Given the description of an element on the screen output the (x, y) to click on. 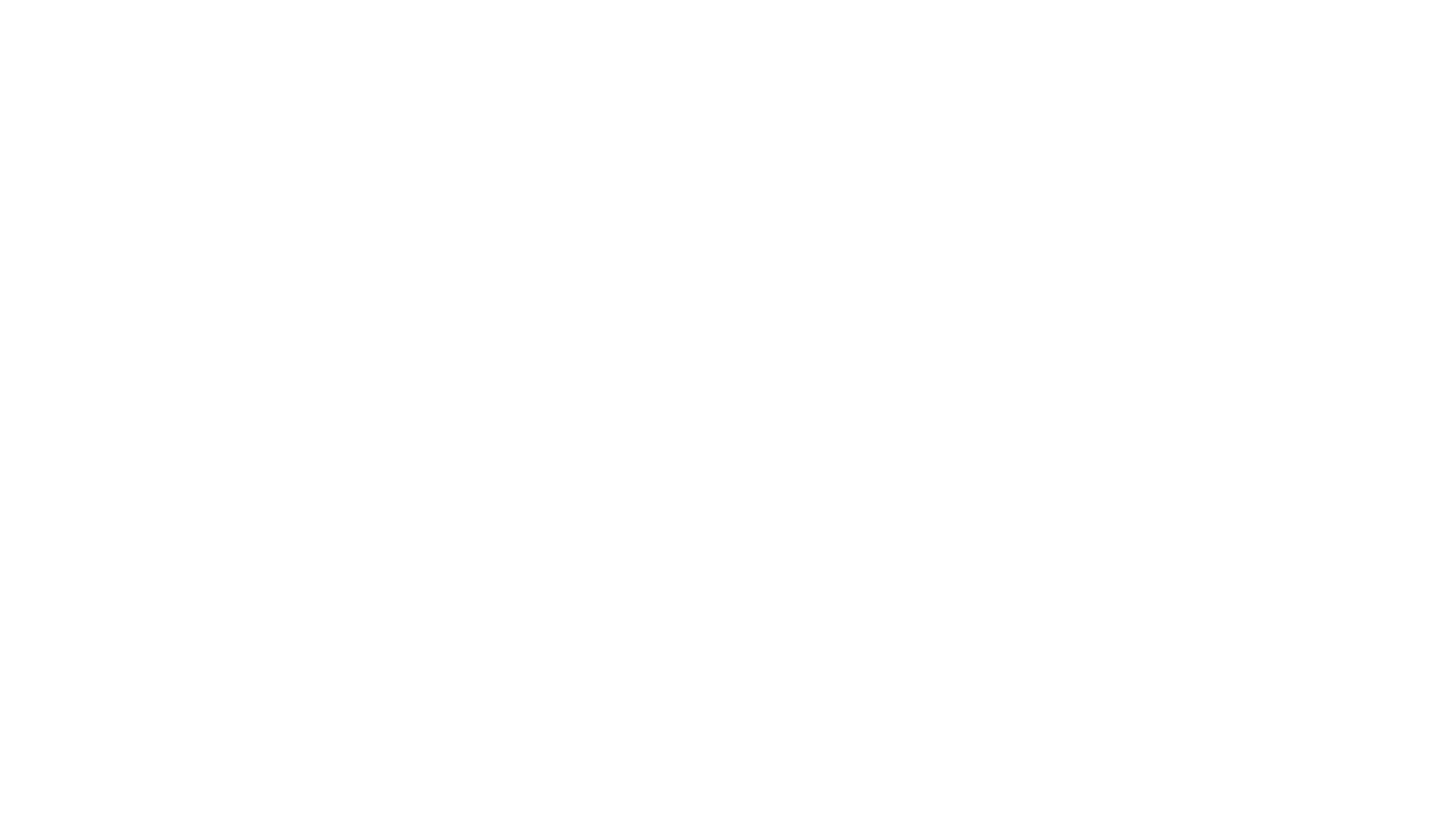
Enter Here Element type: text (558, 224)
Enter Here Element type: text (896, 224)
